Given the description of an element on the screen output the (x, y) to click on. 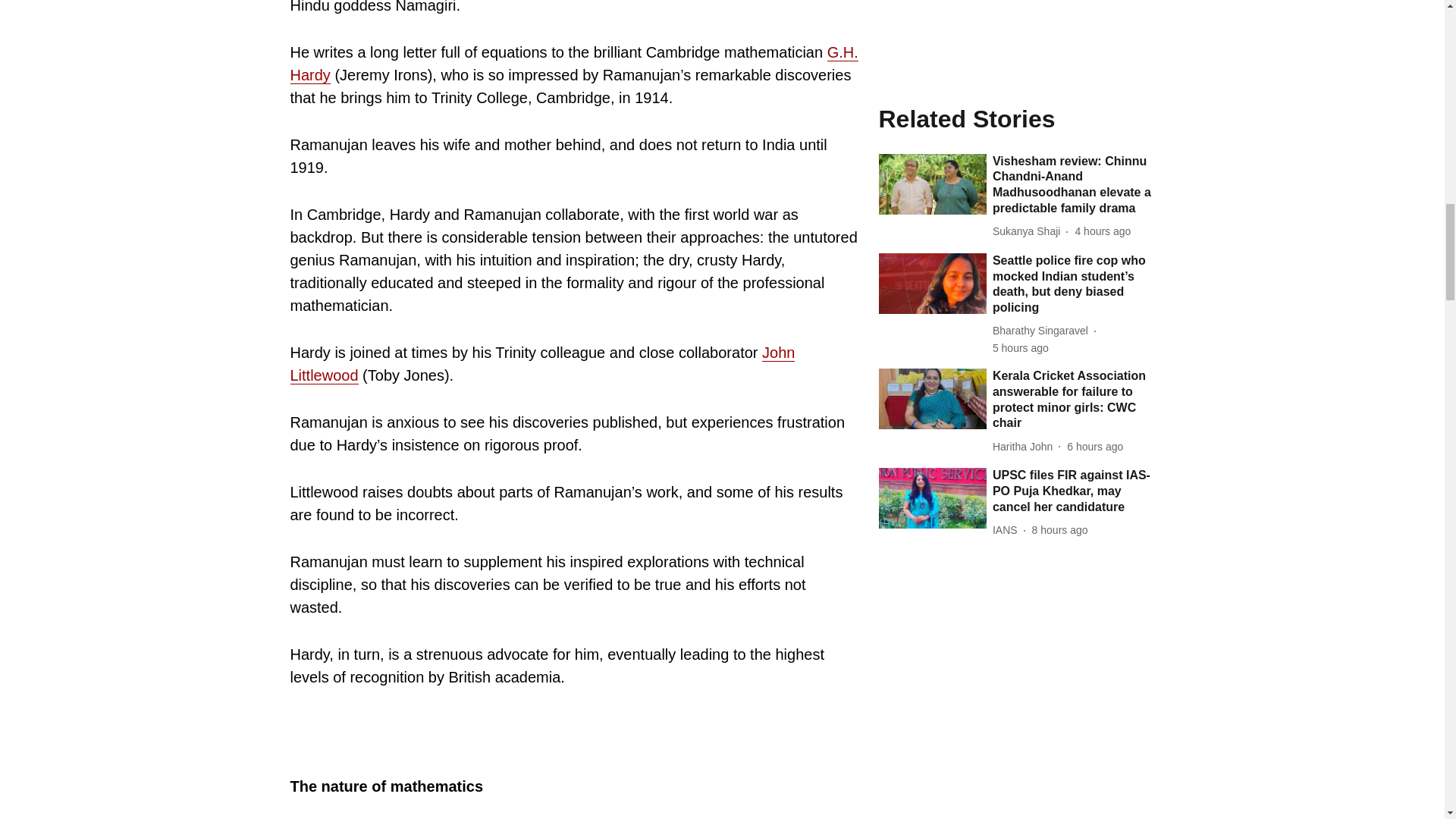
John Littlewood (541, 363)
G.H. Hardy (573, 64)
